Given the description of an element on the screen output the (x, y) to click on. 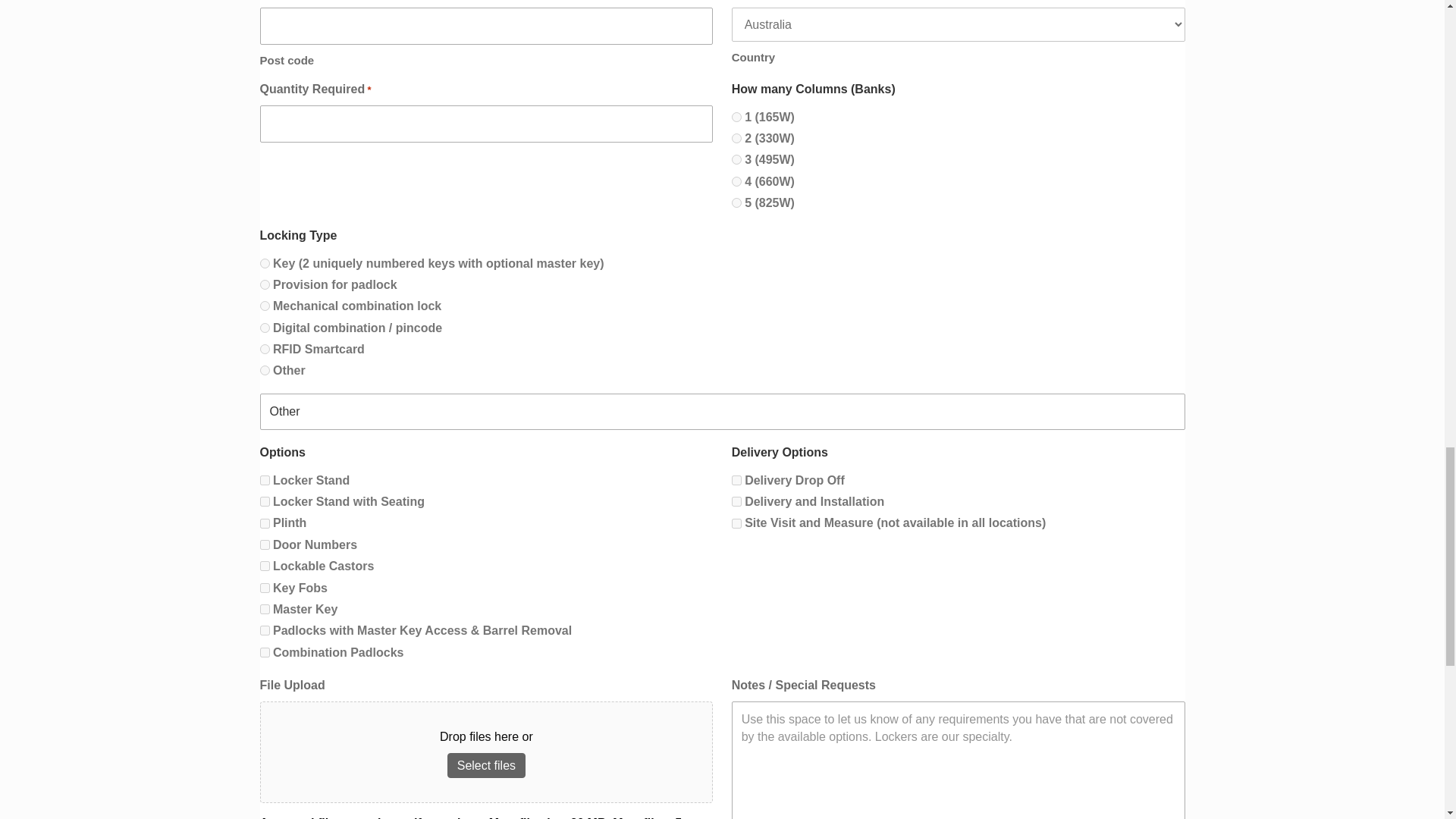
Mechanical combination lock (264, 306)
800W (736, 181)
Provision for padlock (264, 284)
1000W (736, 203)
RFID Smartcard (264, 348)
200W (736, 117)
600W (736, 159)
400W (736, 138)
